Given the description of an element on the screen output the (x, y) to click on. 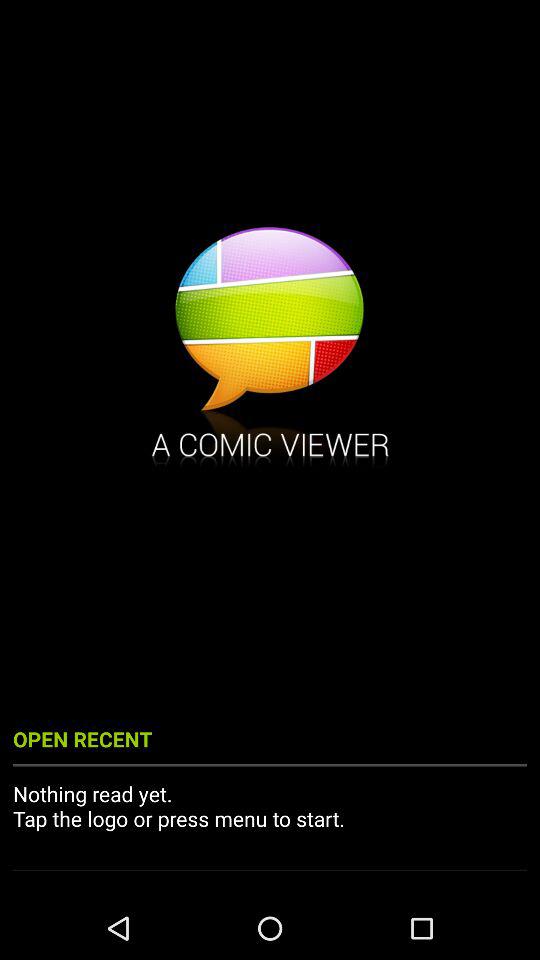
click the app above open recent item (269, 349)
